Given the description of an element on the screen output the (x, y) to click on. 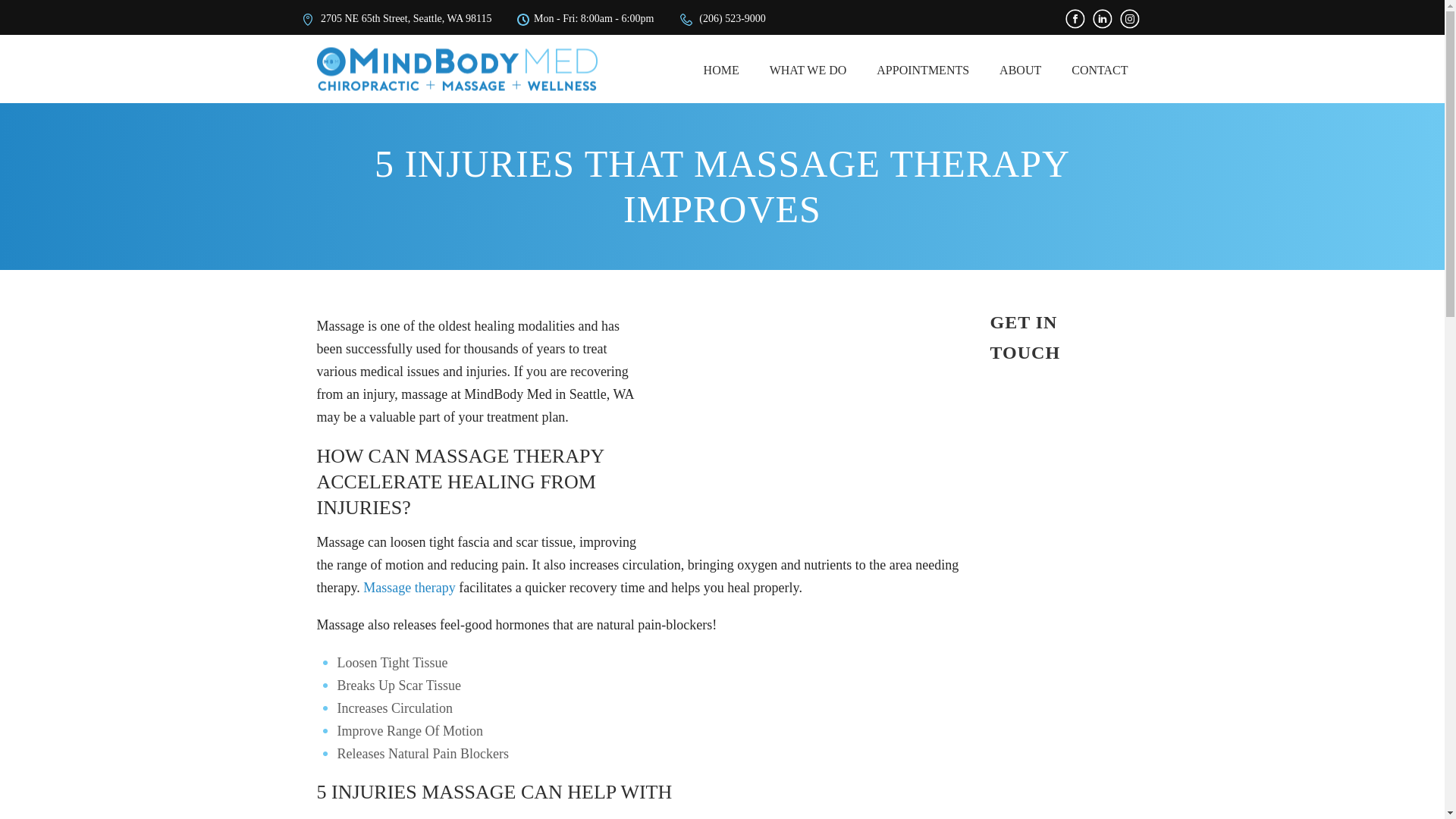
ABOUT (1020, 69)
APPOINTMENTS (922, 69)
WHAT WE DO (807, 69)
HOME (721, 69)
APPOINTMENTS (922, 69)
WHAT WE DO (807, 69)
5 Injuries That Massage Therapy Improves (807, 416)
ABOUT (1020, 69)
CONTACT (1099, 69)
HOME (721, 69)
CONTACT (1099, 69)
